Given the description of an element on the screen output the (x, y) to click on. 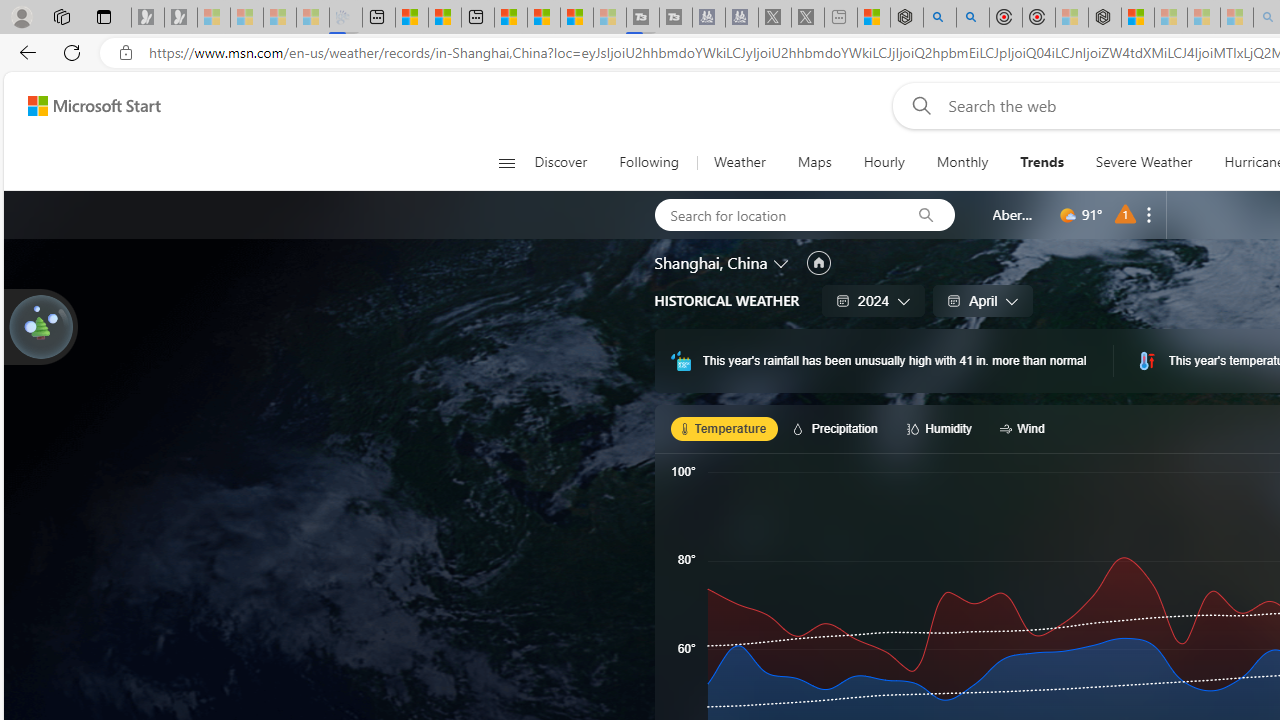
Open navigation menu (506, 162)
Precipitation (838, 428)
poe - Search (940, 17)
Trends (1041, 162)
2024 (873, 300)
Severe Weather (1144, 162)
Nordace - Nordace Siena Is Not An Ordinary Backpack (1105, 17)
Hourly (884, 162)
Monthly (962, 162)
Change location (782, 262)
